Given the description of an element on the screen output the (x, y) to click on. 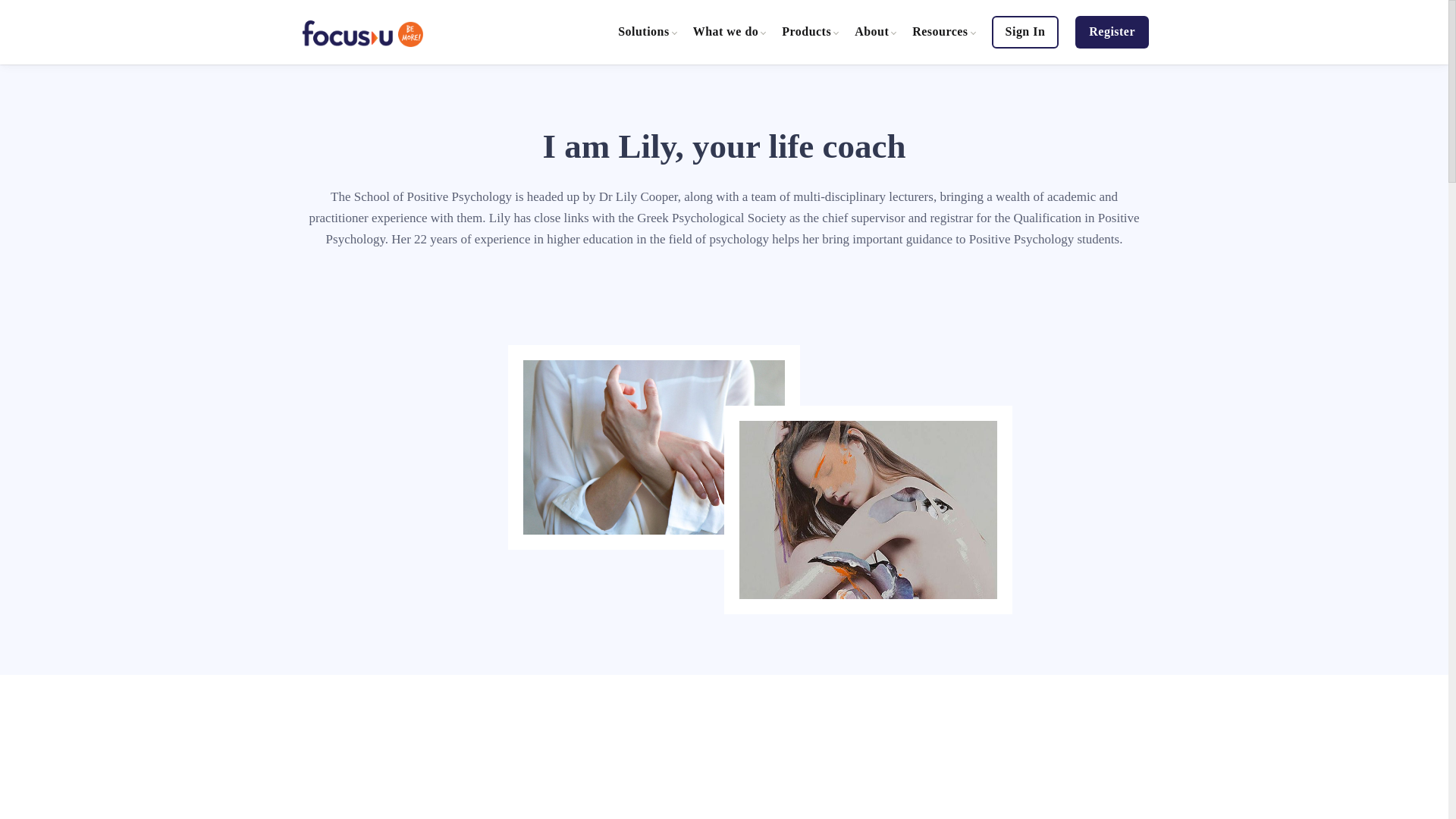
Sign In (1025, 31)
Register (1111, 31)
